Given the description of an element on the screen output the (x, y) to click on. 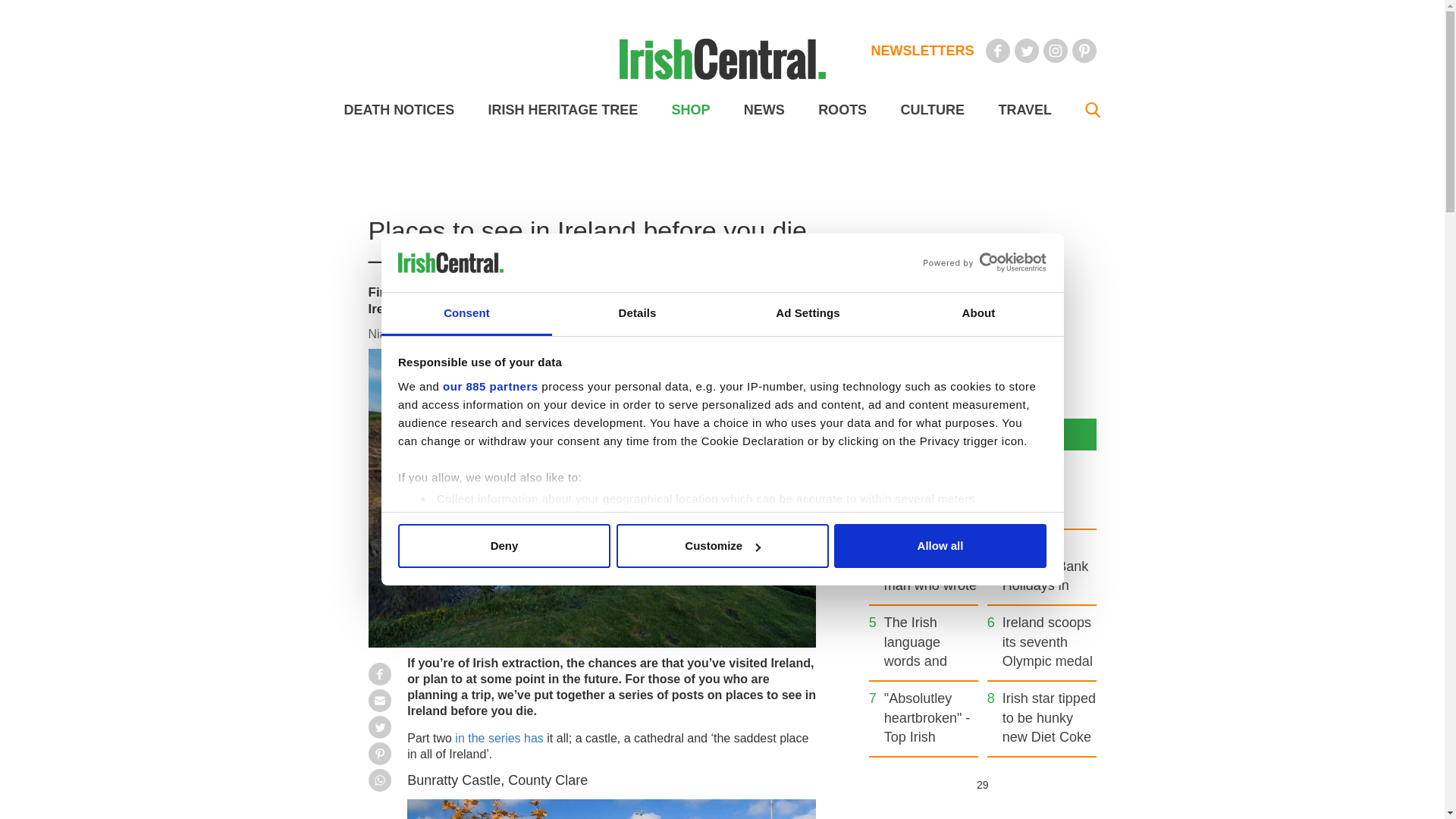
Consent (465, 313)
our 885 partners (490, 386)
details section (927, 536)
About (978, 313)
29 (981, 784)
Ad Settings (807, 313)
Details (636, 313)
